Given the description of an element on the screen output the (x, y) to click on. 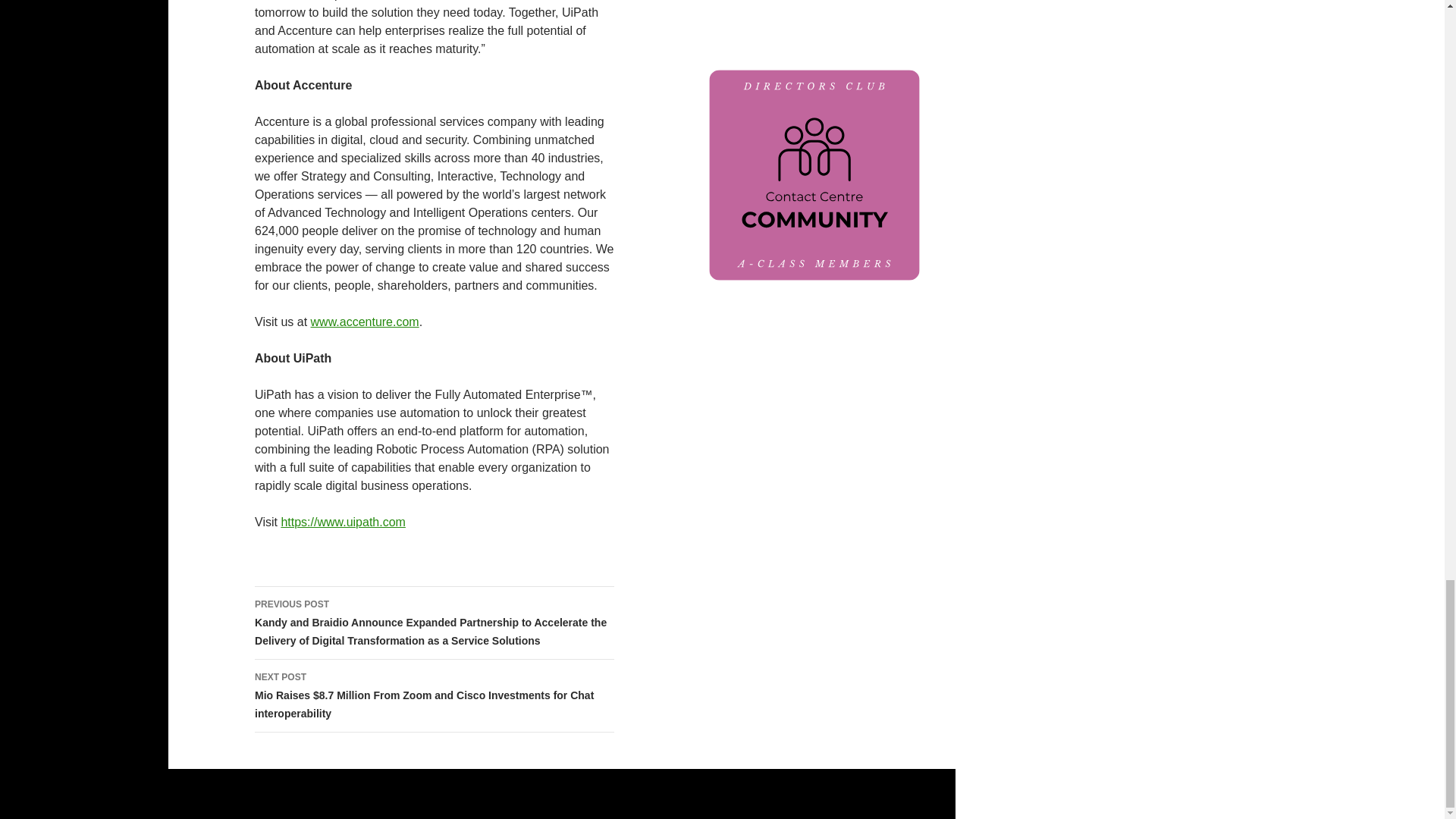
www.accenture.com (365, 321)
Privacy Policy (477, 800)
